Given the description of an element on the screen output the (x, y) to click on. 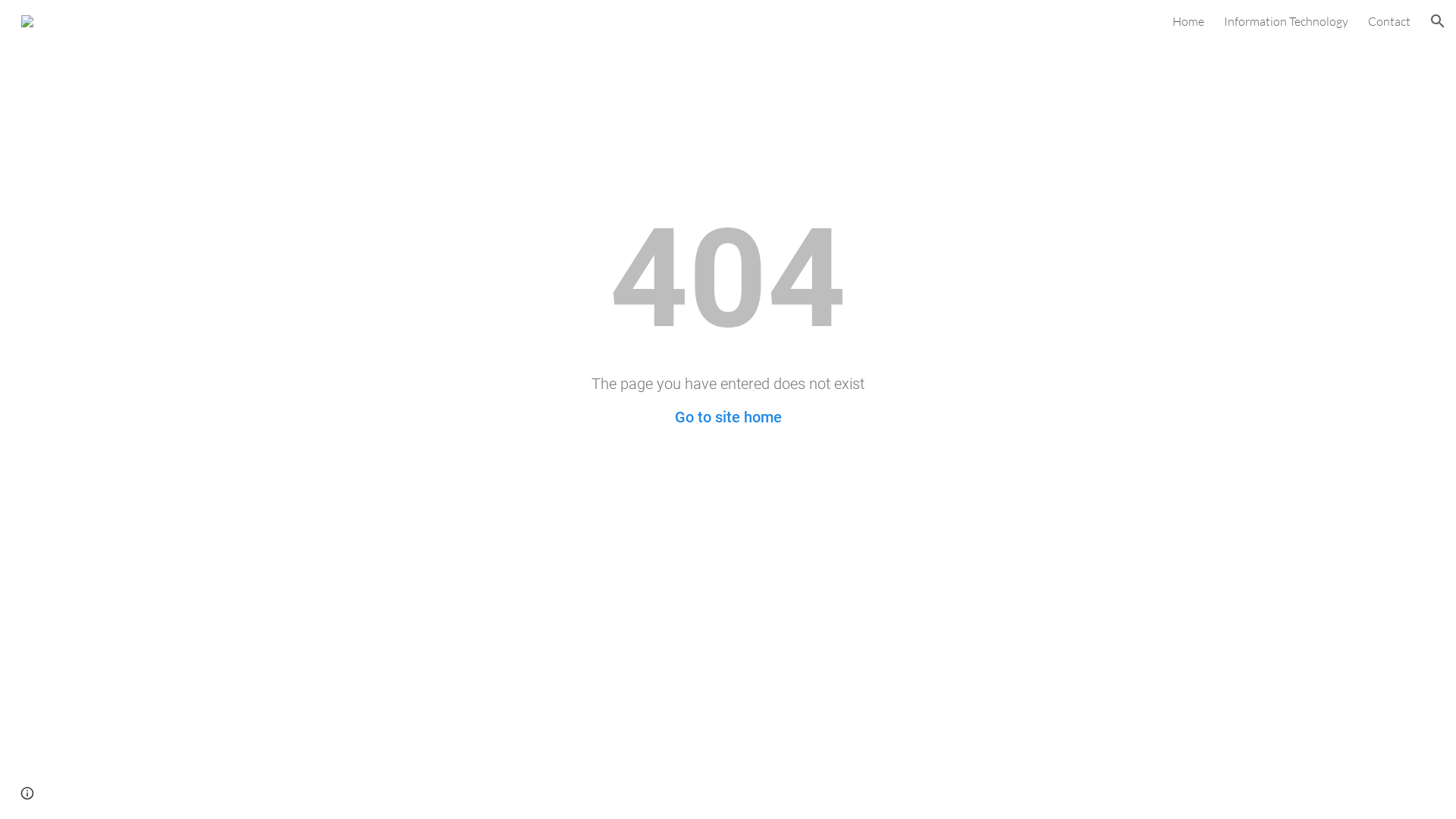
Go to site home Element type: text (727, 416)
Home Element type: text (1188, 20)
Contact Element type: text (1389, 20)
Information Technology Element type: text (1285, 20)
